Given the description of an element on the screen output the (x, y) to click on. 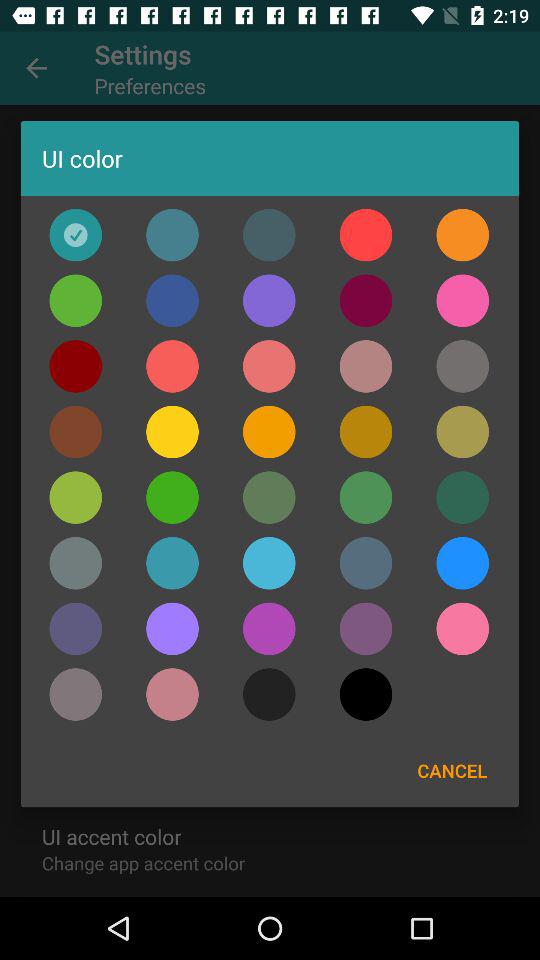
select orange color (365, 234)
